Given the description of an element on the screen output the (x, y) to click on. 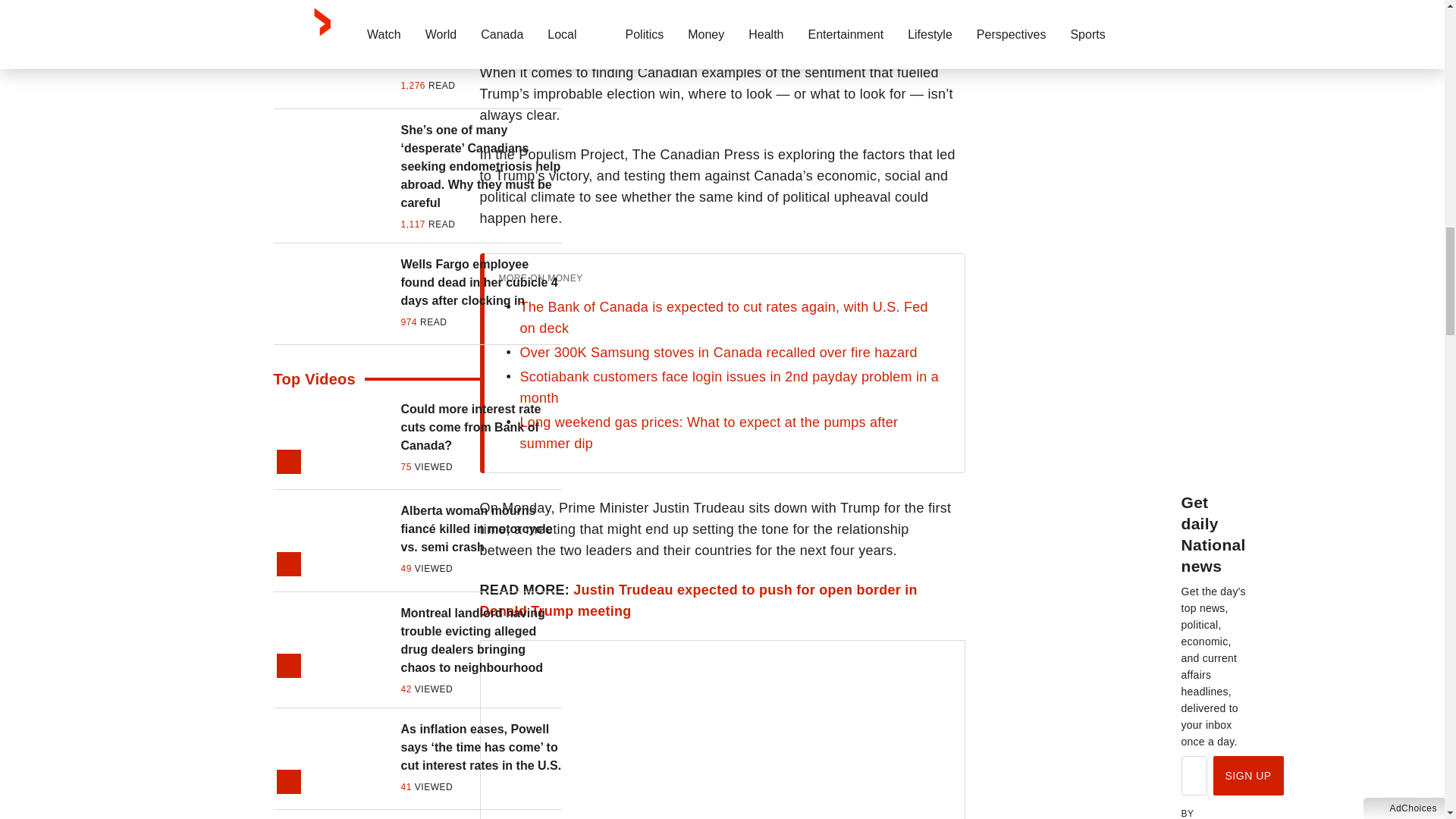
Could more interest rate cuts come from Bank of Canada? (480, 427)
